Given the description of an element on the screen output the (x, y) to click on. 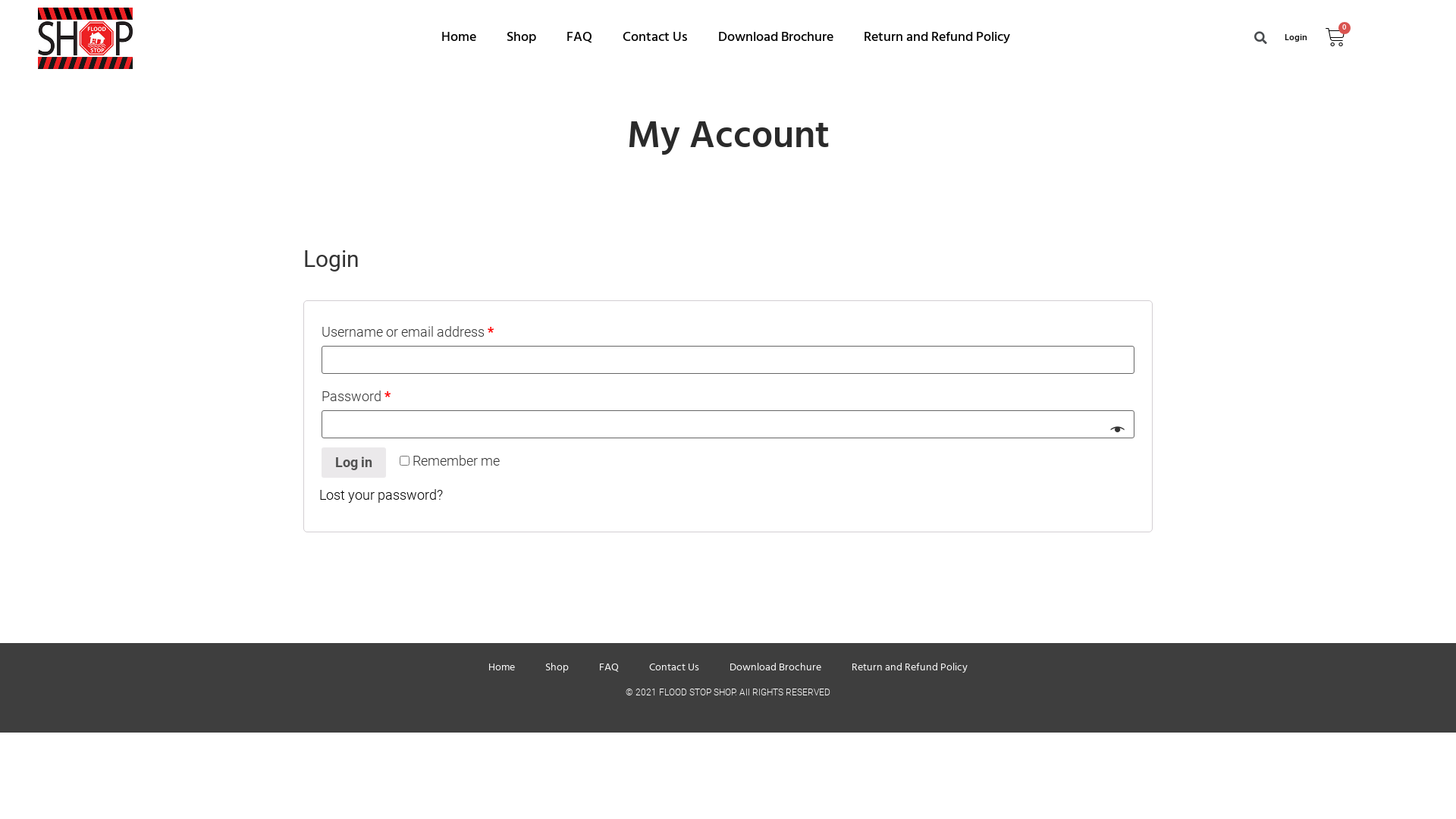
Log in Element type: text (353, 462)
Download Brochure Element type: text (775, 667)
FAQ Element type: text (579, 37)
FAQ Element type: text (608, 667)
Return and Refund Policy Element type: text (936, 37)
Home Element type: text (458, 37)
Contact Us Element type: text (673, 667)
Contact Us Element type: text (654, 37)
Login Element type: text (1295, 37)
Lost your password? Element type: text (380, 494)
Shop Element type: text (556, 667)
Home Element type: text (501, 667)
Download Brochure Element type: text (775, 37)
Shop Element type: text (521, 37)
Return and Refund Policy Element type: text (909, 667)
